Given the description of an element on the screen output the (x, y) to click on. 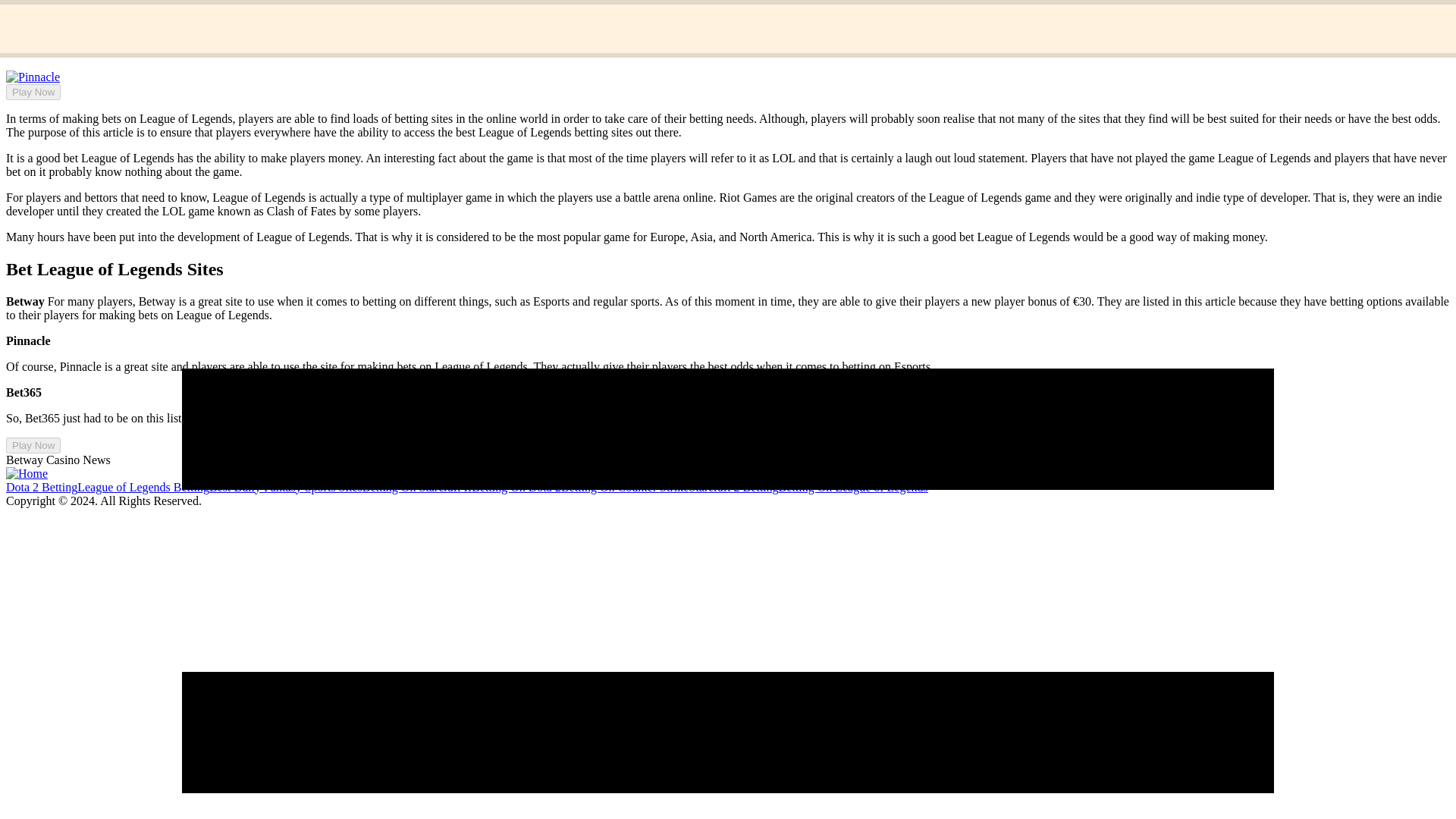
League of Legends Betting (143, 486)
Starcraft 2 Betting (732, 486)
Dota 2 Betting (41, 486)
Betting On League of Legends (853, 486)
Betting On Counter Strike (624, 486)
Best Daily Fantasy Sports Sites (285, 486)
Betting On Starcraft II (416, 486)
Betting On Dota 2 (515, 486)
Play Now (33, 445)
Play Now (33, 91)
